Given the description of an element on the screen output the (x, y) to click on. 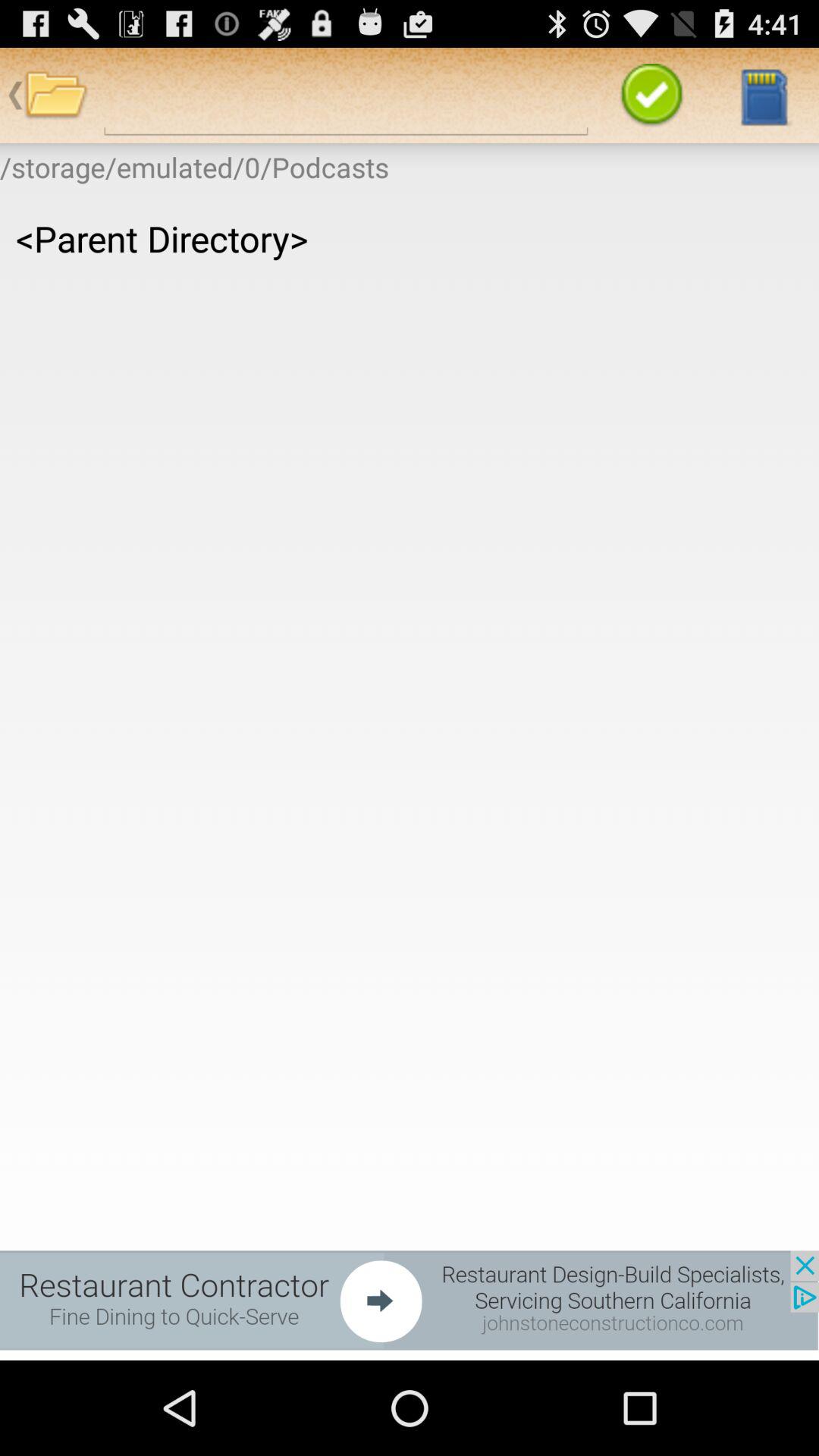
open advertisement (409, 1300)
